Given the description of an element on the screen output the (x, y) to click on. 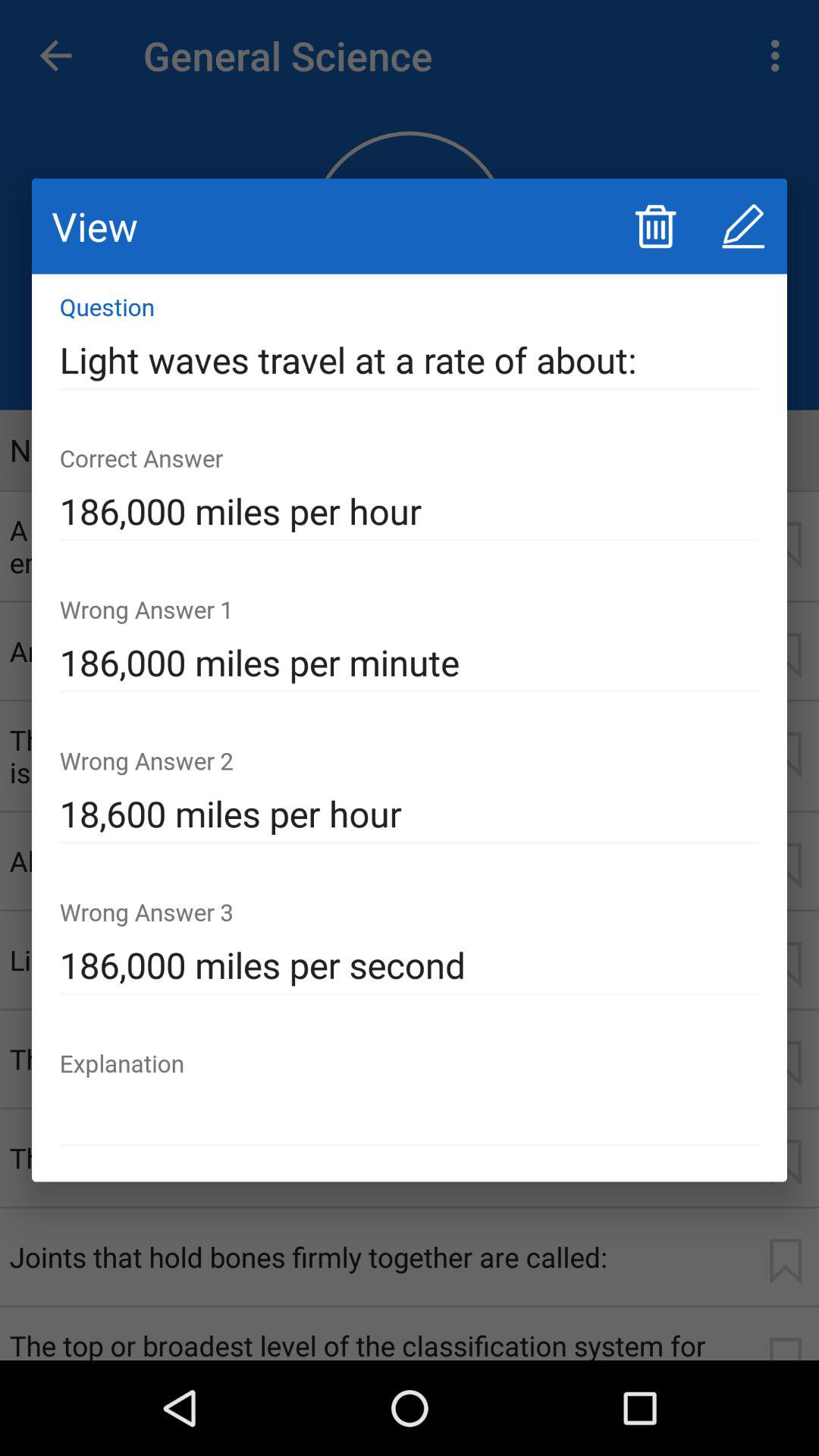
launch item above the light waves travel icon (655, 226)
